Given the description of an element on the screen output the (x, y) to click on. 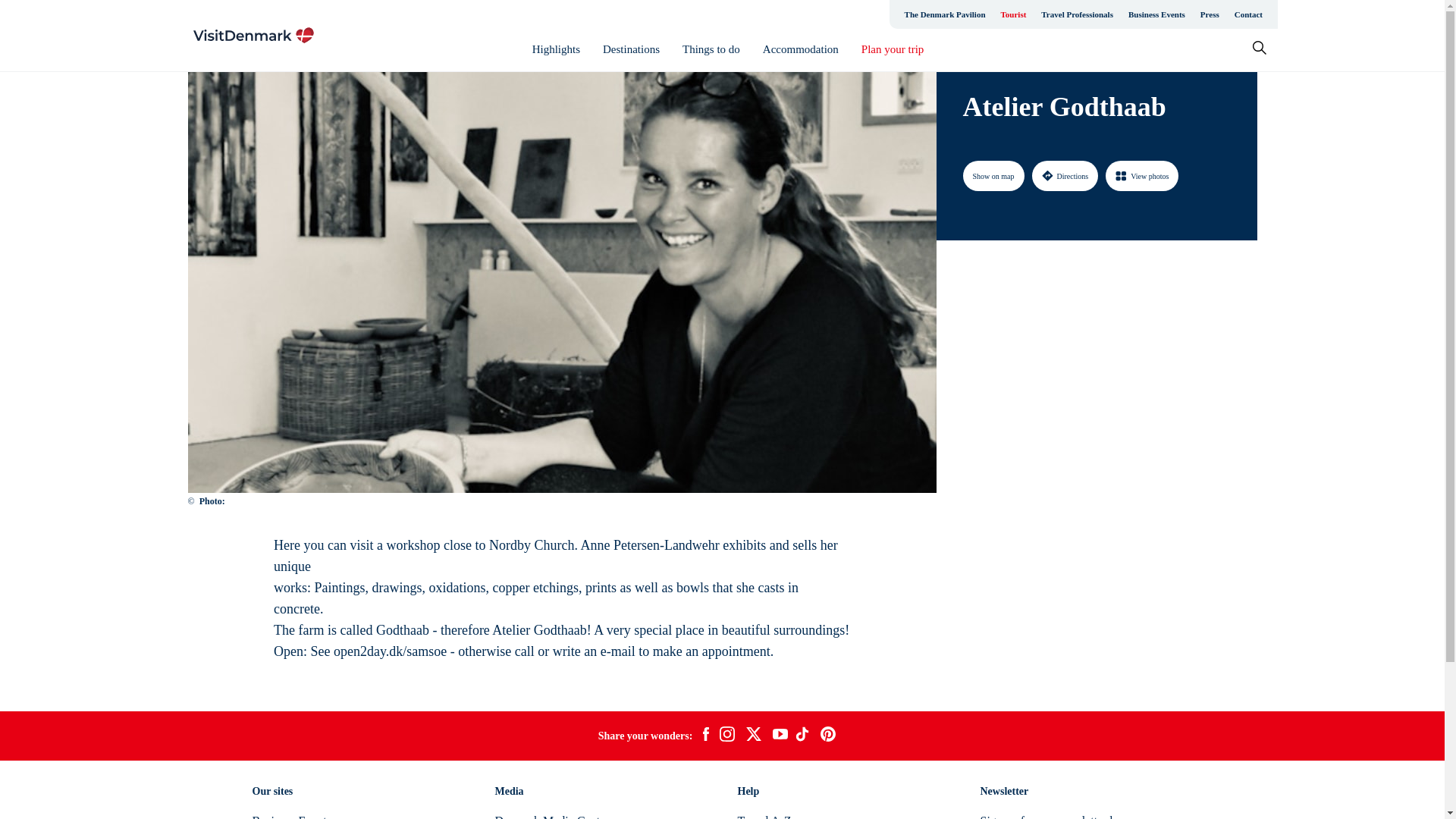
Accommodation (800, 49)
twitter (753, 735)
Travel A-Z (763, 816)
facebook (705, 736)
Destinations (630, 49)
Sign up for our newsletter here (1055, 816)
Tourist (1012, 14)
Business Events (290, 816)
Travel A-Z (763, 816)
Go to homepage (253, 35)
